Given the description of an element on the screen output the (x, y) to click on. 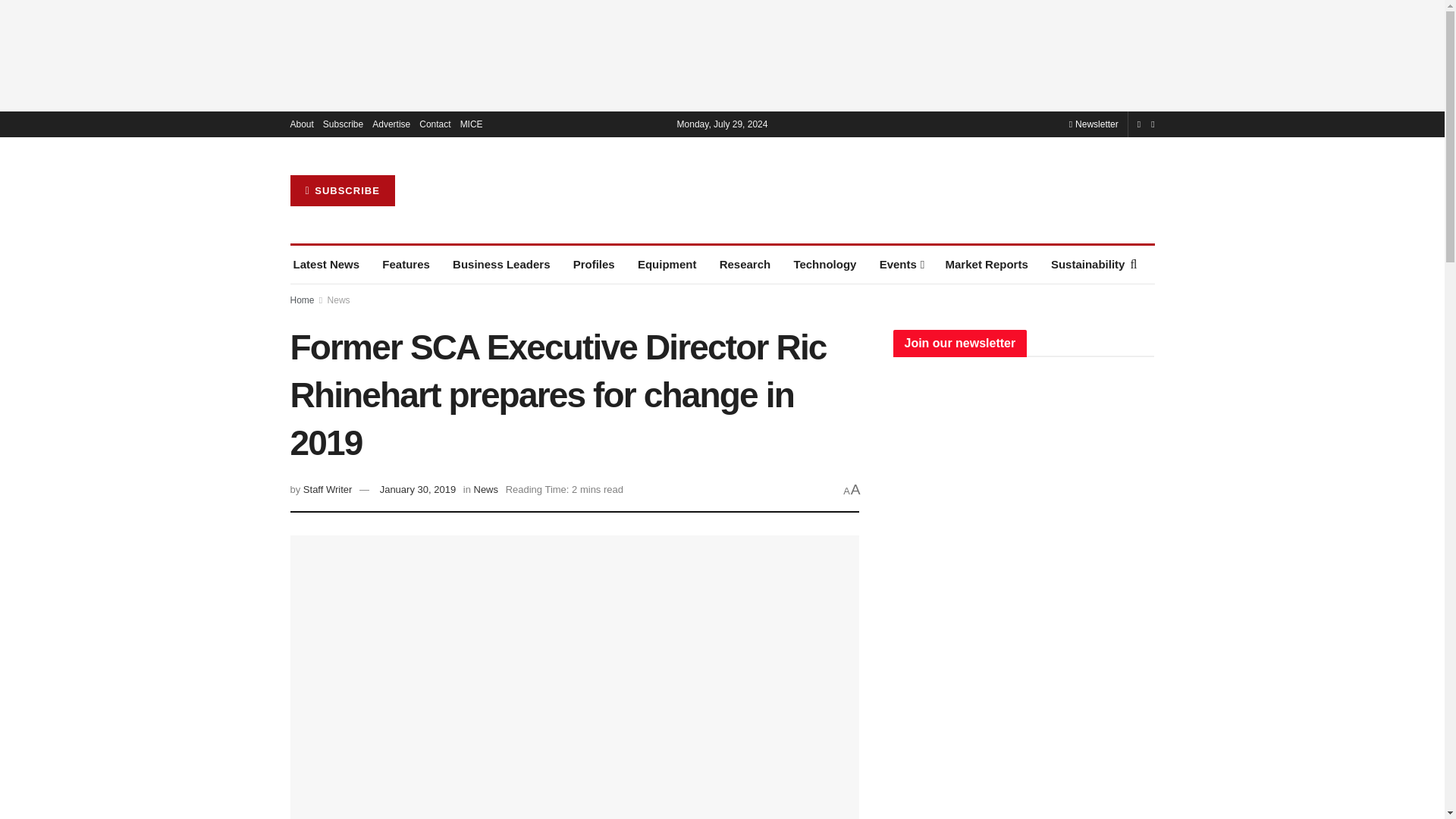
Events (901, 264)
About (301, 124)
Market Reports (986, 264)
Research (745, 264)
Sustainability (1088, 264)
Advertise (391, 124)
Features (405, 264)
Equipment (667, 264)
Latest News (325, 264)
Profiles (593, 264)
Newsletter (1093, 123)
SUBSCRIBE (341, 190)
Contact (434, 124)
Business Leaders (501, 264)
Subscribe (342, 124)
